Given the description of an element on the screen output the (x, y) to click on. 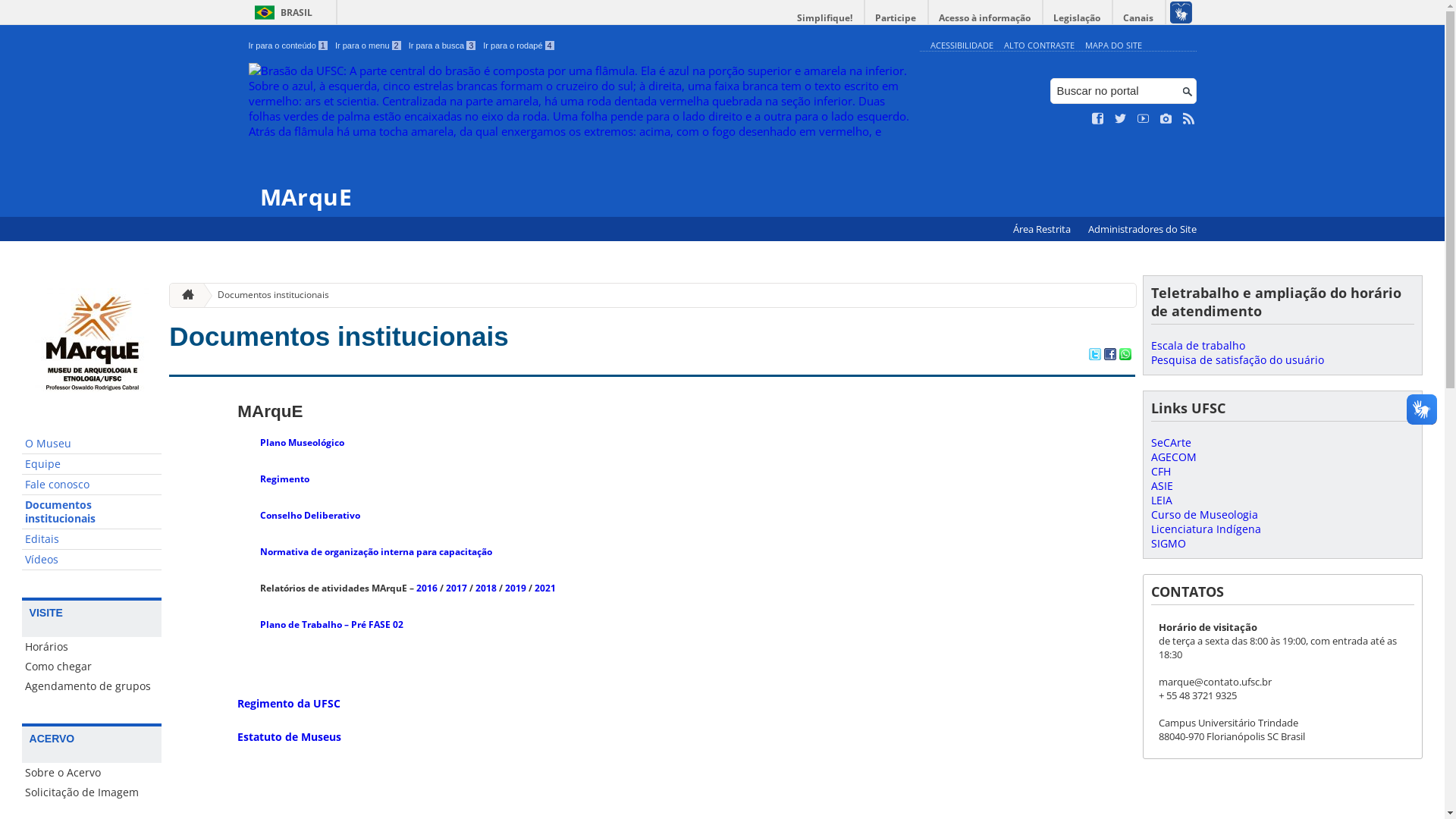
LEIA Element type: text (1161, 499)
Escala de trabalho Element type: text (1198, 345)
Conselho Deliberativo Element type: text (310, 514)
Documentos institucionais Element type: text (91, 512)
2019 Element type: text (515, 587)
2021 Element type: text (544, 587)
CFH Element type: text (1160, 471)
ACESSIBILIDADE Element type: text (960, 44)
MArquE Element type: text (580, 135)
MAPA DO SITE Element type: text (1112, 44)
BRASIL Element type: text (280, 12)
Agendamento de grupos Element type: text (91, 686)
SIGMO Element type: text (1168, 543)
Estatuto de Museus  Element type: text (290, 736)
2017 Element type: text (456, 587)
Compartilhar no WhatsApp Element type: hover (1125, 355)
SeCArte Element type: text (1171, 442)
Siga no Twitter Element type: hover (1120, 118)
Veja no Instagram Element type: hover (1166, 118)
2016 Element type: text (426, 587)
Simplifique! Element type: text (825, 18)
Regimento Element type: text (284, 478)
Ir para a busca 3 Element type: text (442, 45)
Documentos institucionais Element type: text (338, 336)
Documentos institucionais Element type: text (267, 295)
ASIE Element type: text (1162, 485)
Compartilhar no Facebook Element type: hover (1110, 355)
Canais Element type: text (1138, 18)
Como chegar Element type: text (91, 666)
AGECOM Element type: text (1173, 456)
Participe Element type: text (895, 18)
2018 Element type: text (485, 587)
O Museu Element type: text (91, 443)
Sobre o Acervo Element type: text (91, 772)
Equipe Element type: text (91, 464)
Fale conosco Element type: text (91, 484)
Regimento da UFSC Element type: text (288, 703)
Curso de Museologia Element type: text (1204, 514)
Editais Element type: text (91, 539)
Ir para o menu 2 Element type: text (368, 45)
ALTO CONTRASTE Element type: text (1039, 44)
Administradores do Site Element type: text (1141, 228)
Compartilhar no Twitter Element type: hover (1094, 355)
Curta no Facebook Element type: hover (1098, 118)
